Given the description of an element on the screen output the (x, y) to click on. 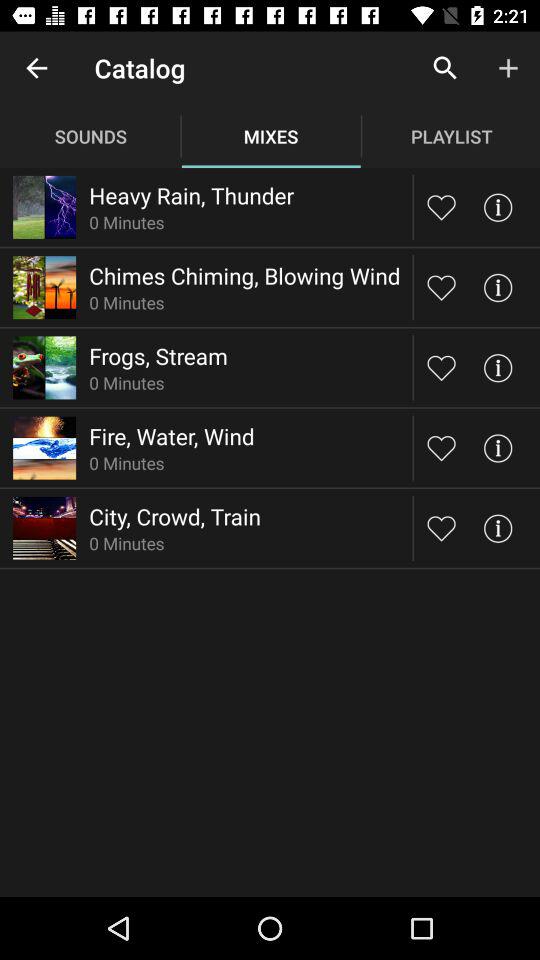
like (441, 447)
